Given the description of an element on the screen output the (x, y) to click on. 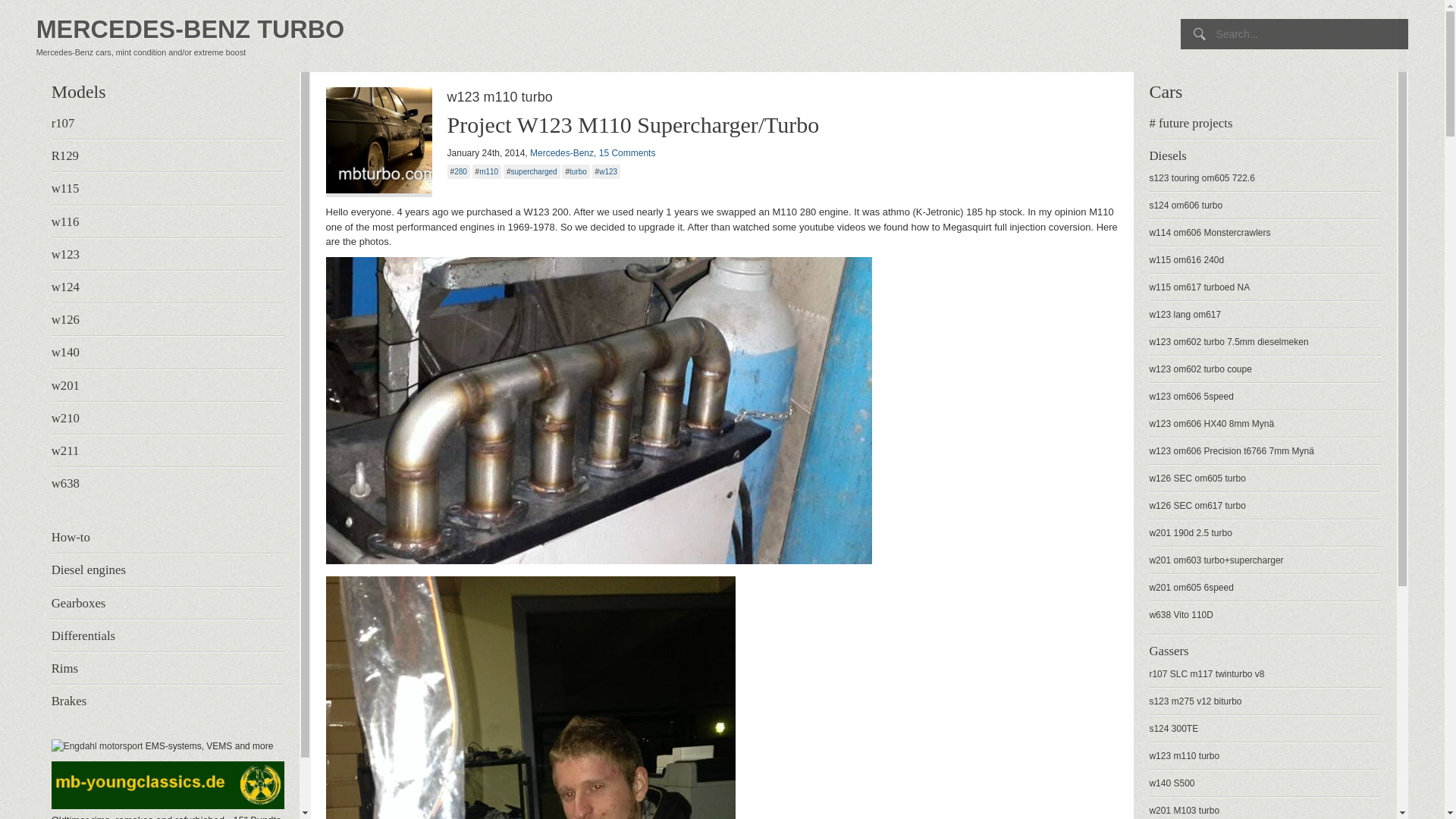
w123 m110 turbo (722, 96)
Mercedes-Benz (561, 153)
280 (460, 171)
MERCEDES-BENZ TURBO (722, 30)
w123 (607, 171)
'Search' (30, 15)
15 Comments (627, 153)
supercharged (534, 171)
turbo (577, 171)
Mercedes-Benz turbo (722, 30)
